Given the description of an element on the screen output the (x, y) to click on. 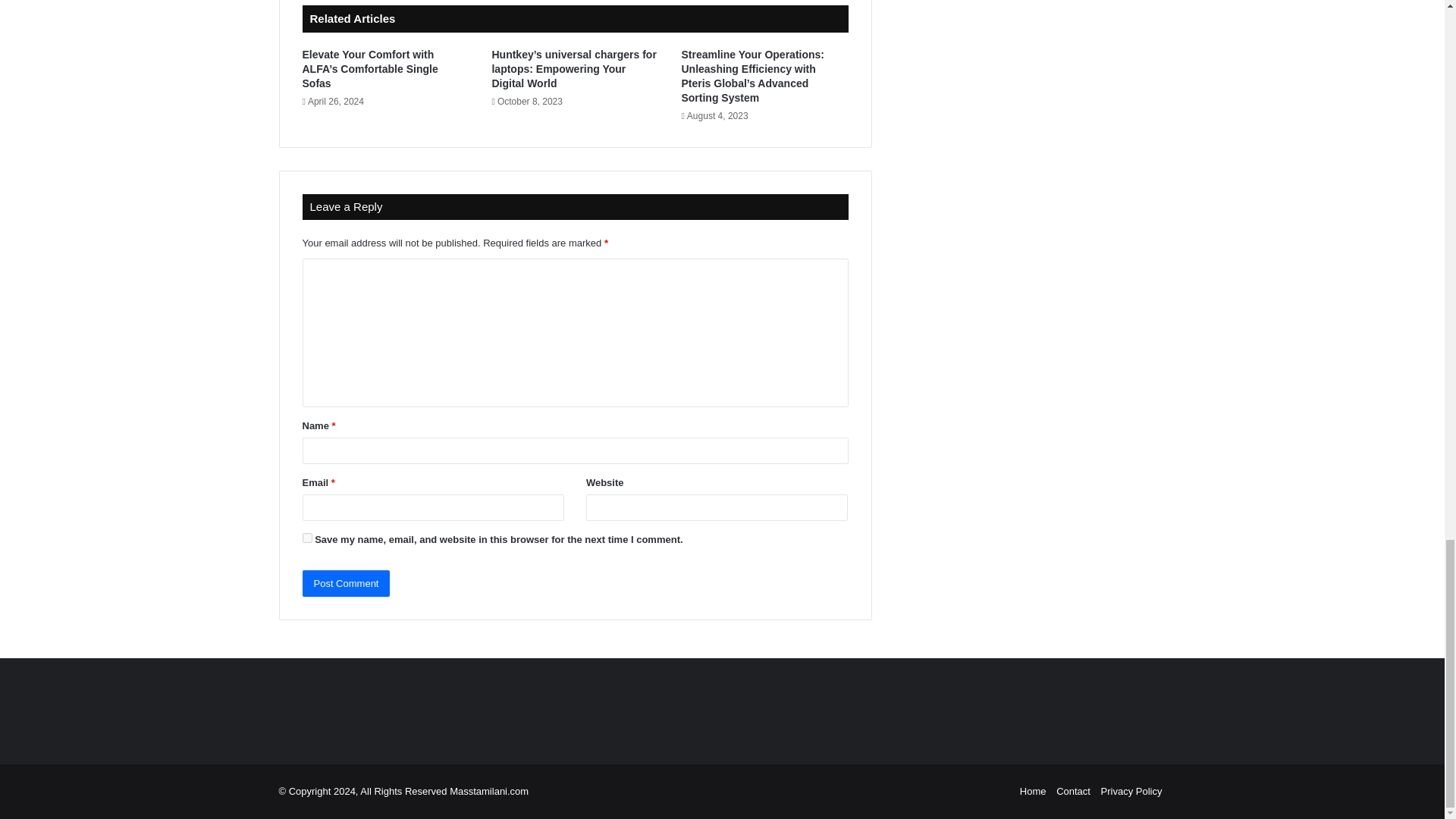
yes (306, 537)
Post Comment (345, 583)
